Given the description of an element on the screen output the (x, y) to click on. 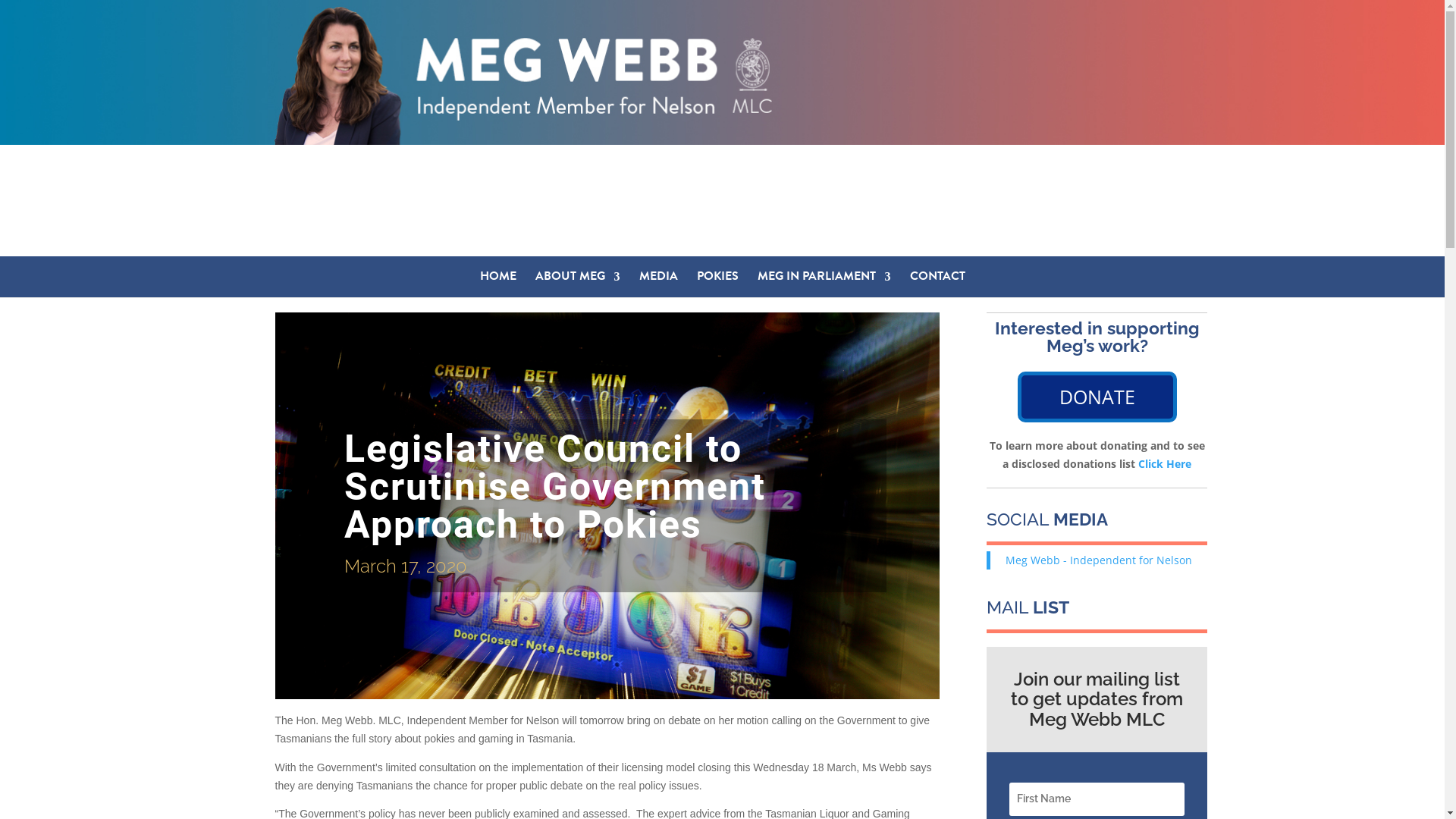
POKIES Element type: text (716, 281)
Meg Webb - Independent for Nelson Element type: text (1098, 559)
MEG IN PARLIAMENT Element type: text (823, 281)
MEDIA Element type: text (657, 281)
HOME Element type: text (497, 281)
CONTACT Element type: text (937, 281)
DONATE Element type: text (1096, 397)
ABOUT MEG Element type: text (577, 281)
Click Here Element type: text (1164, 463)
